Given the description of an element on the screen output the (x, y) to click on. 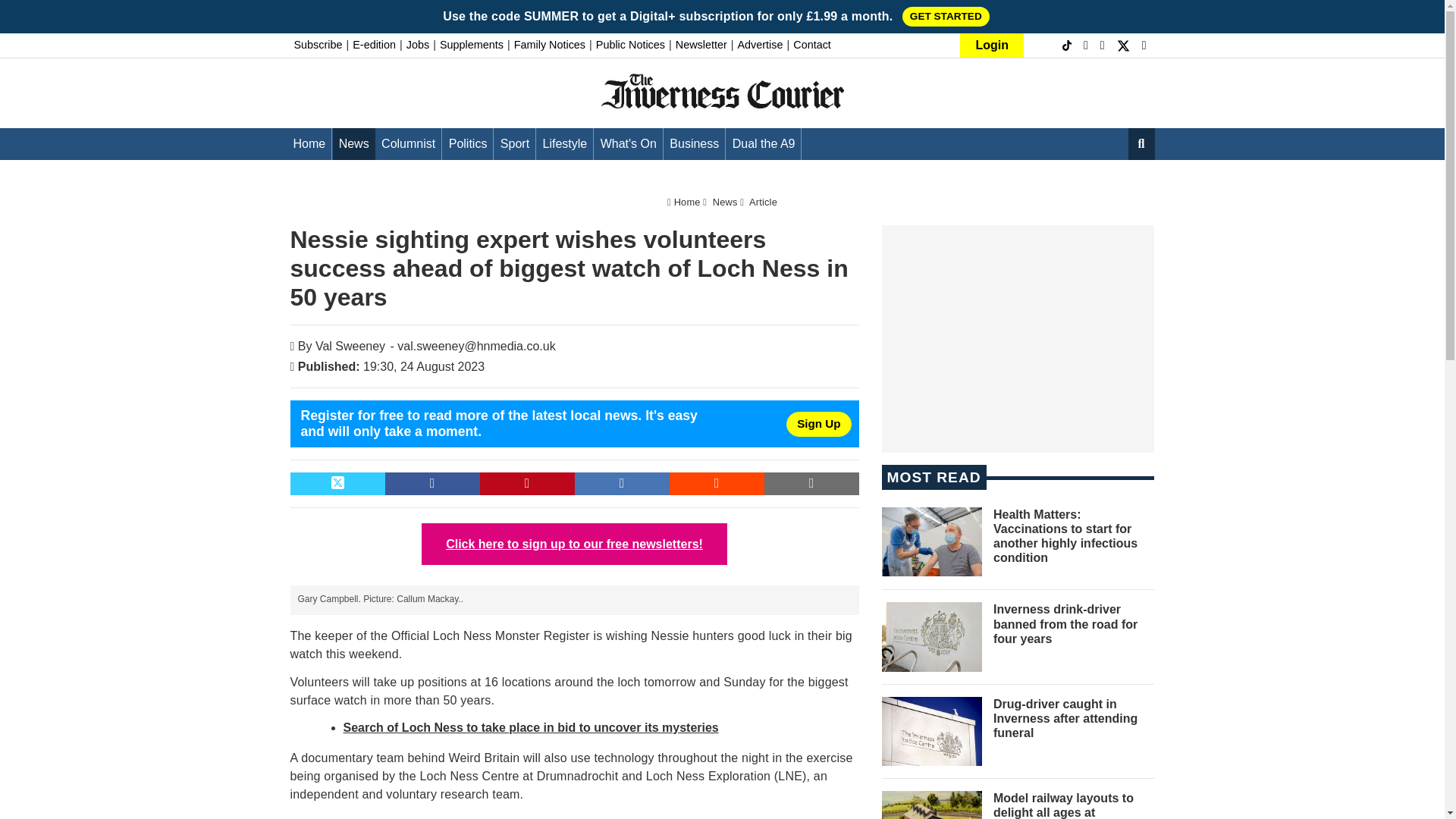
GET STARTED (946, 16)
